Given the description of an element on the screen output the (x, y) to click on. 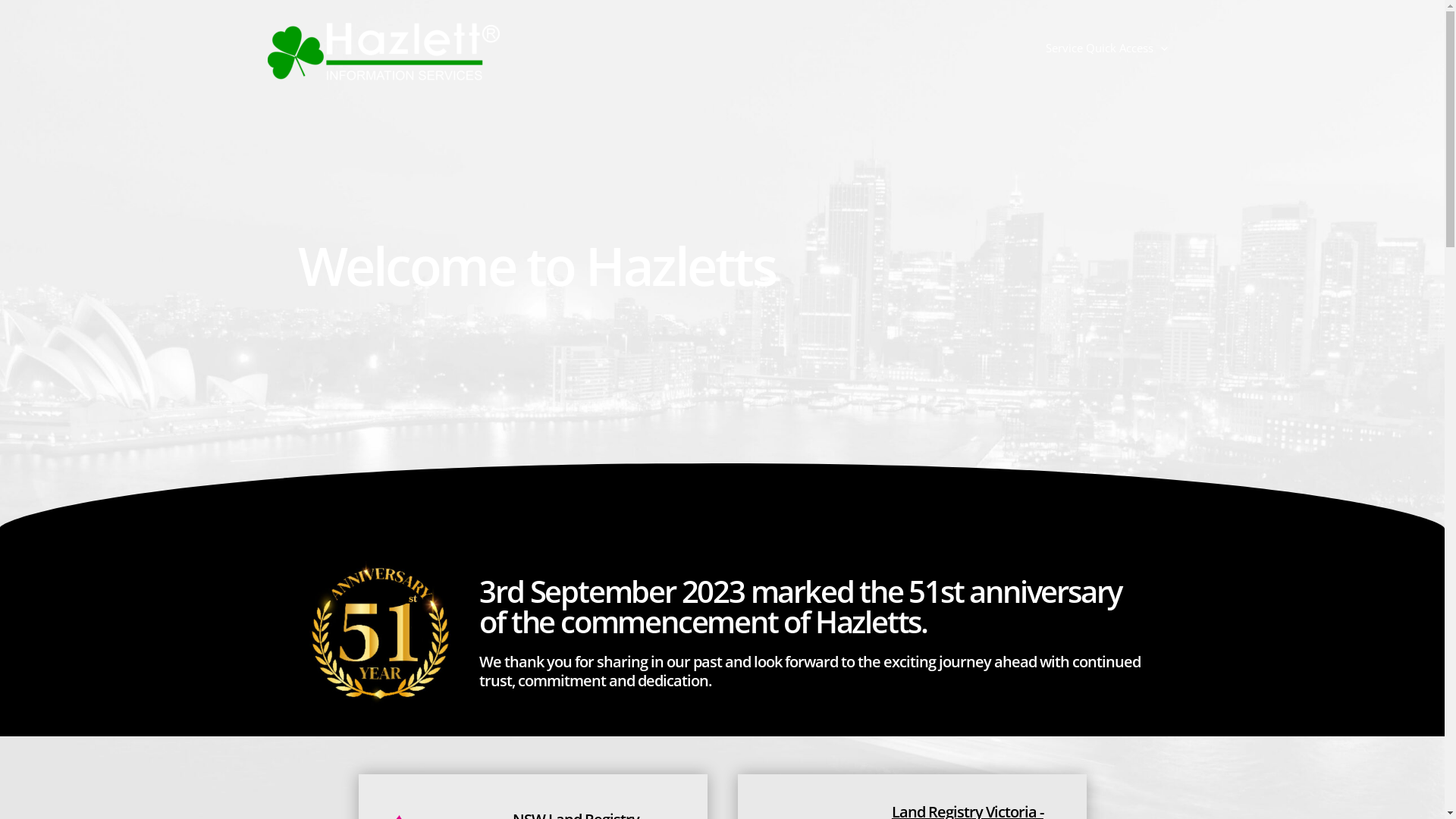
Service Quick Access Element type: text (1106, 47)
